Given the description of an element on the screen output the (x, y) to click on. 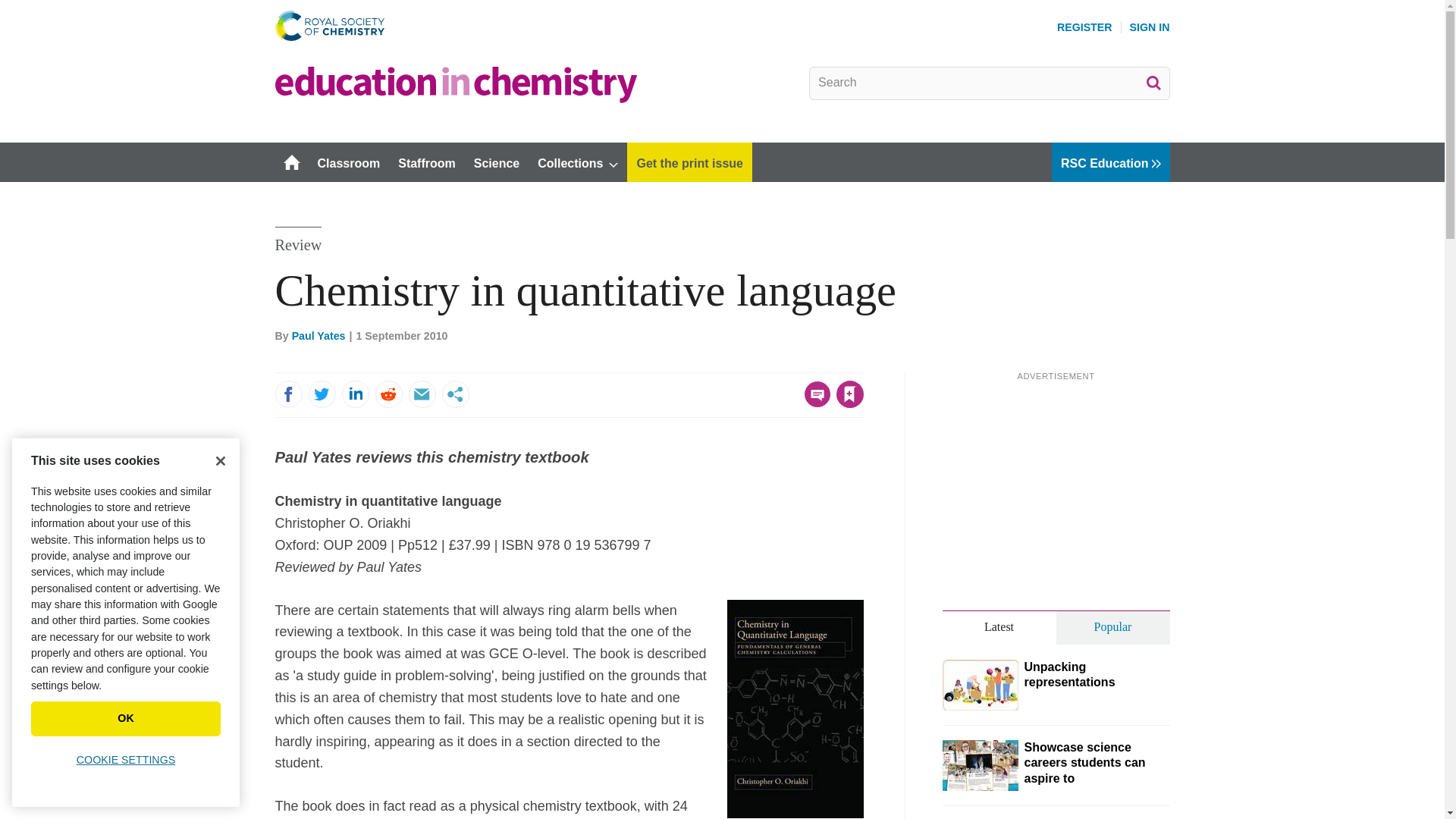
Classroom (347, 161)
Share this on Reddit (387, 393)
REGISTER (1084, 27)
Share this on Facebook (288, 393)
Collections (577, 161)
SIGN IN (1149, 27)
Staffroom (426, 161)
Share this on LinkedIn (354, 393)
SEARCH (1152, 82)
Share this on Twitter (320, 393)
